Given the description of an element on the screen output the (x, y) to click on. 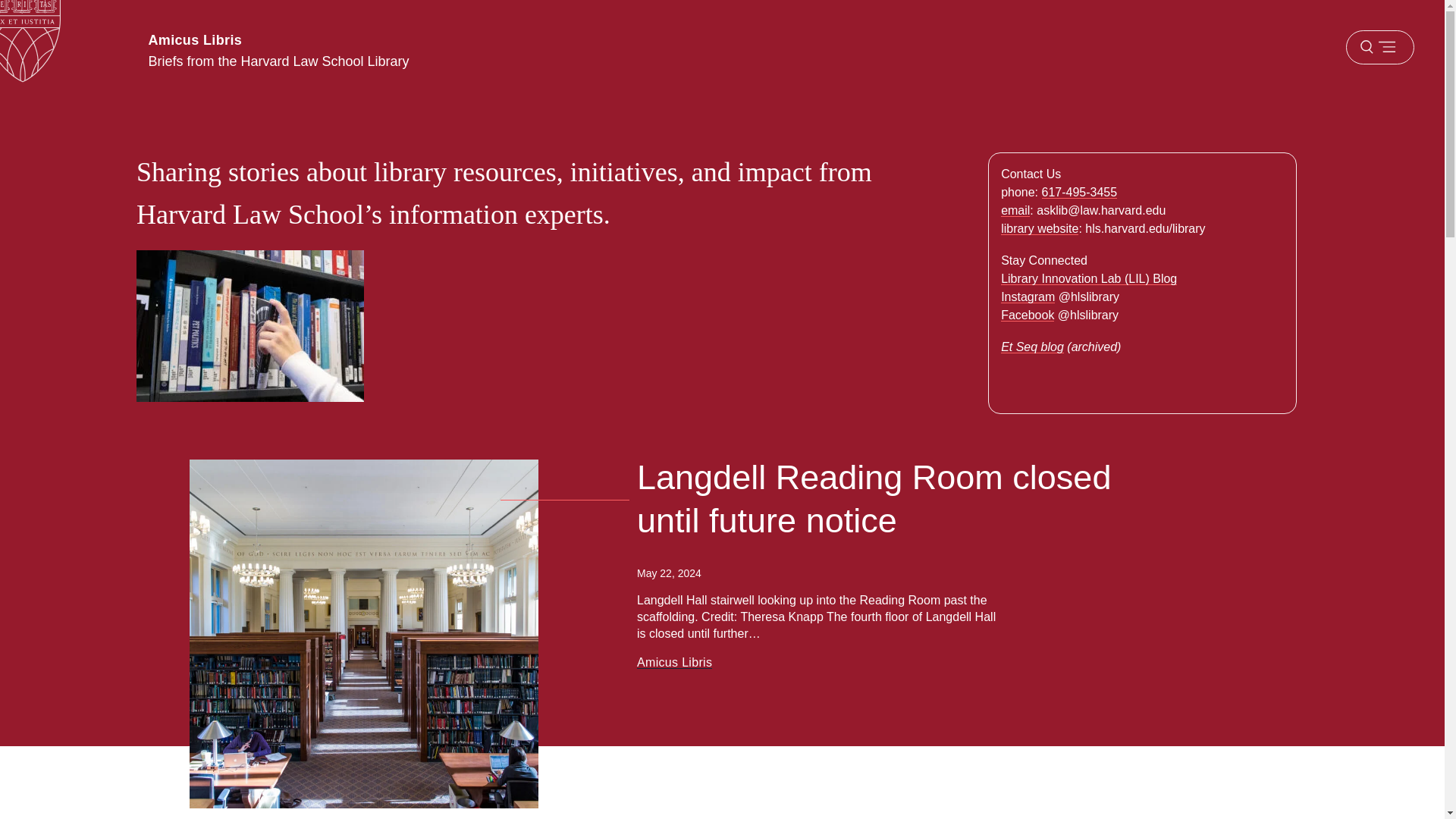
Open menu (1379, 47)
